Given the description of an element on the screen output the (x, y) to click on. 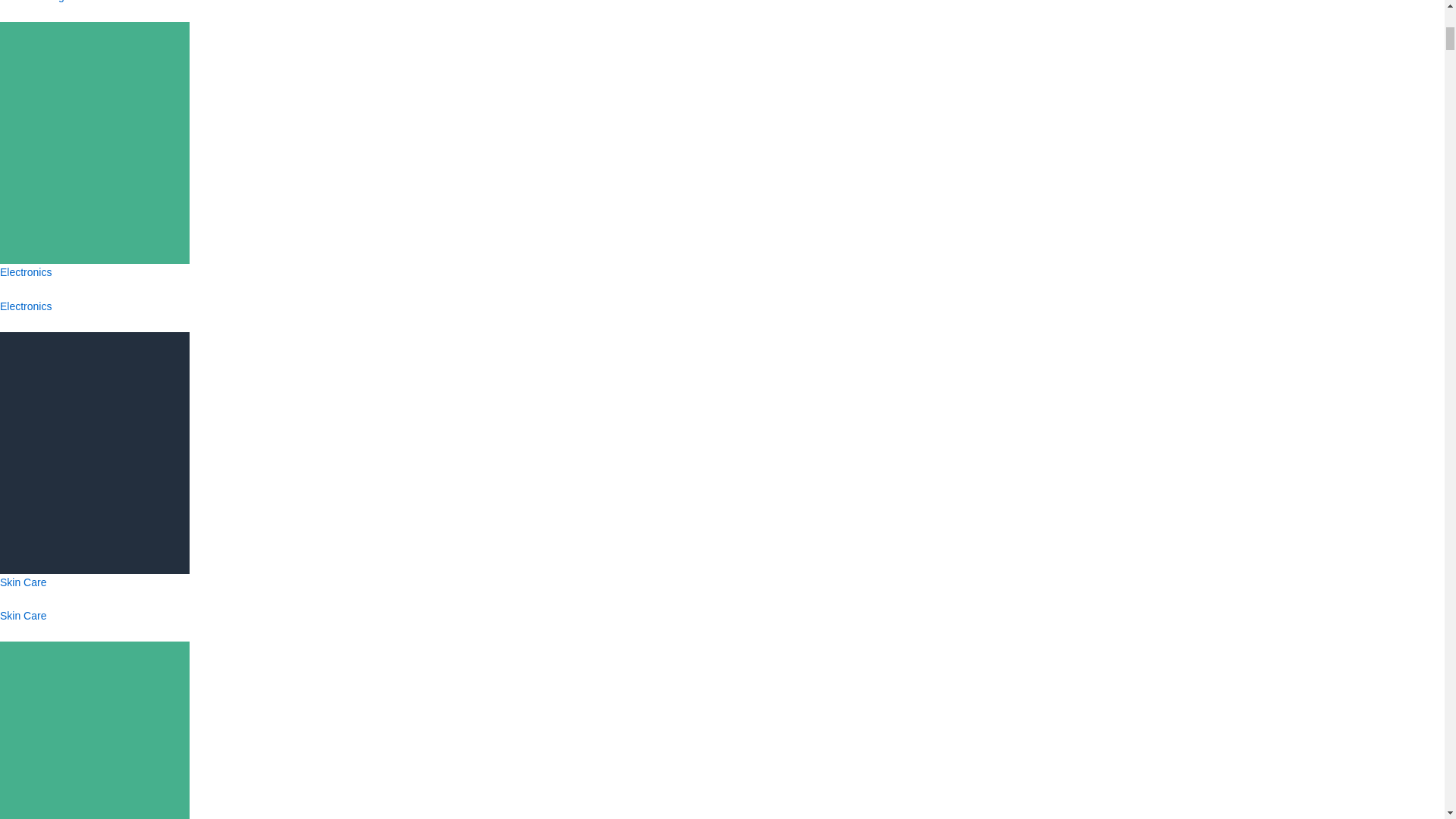
See All Categories (43, 1)
Skin Care (23, 615)
Electronics (25, 306)
Video Games (94, 787)
